Given the description of an element on the screen output the (x, y) to click on. 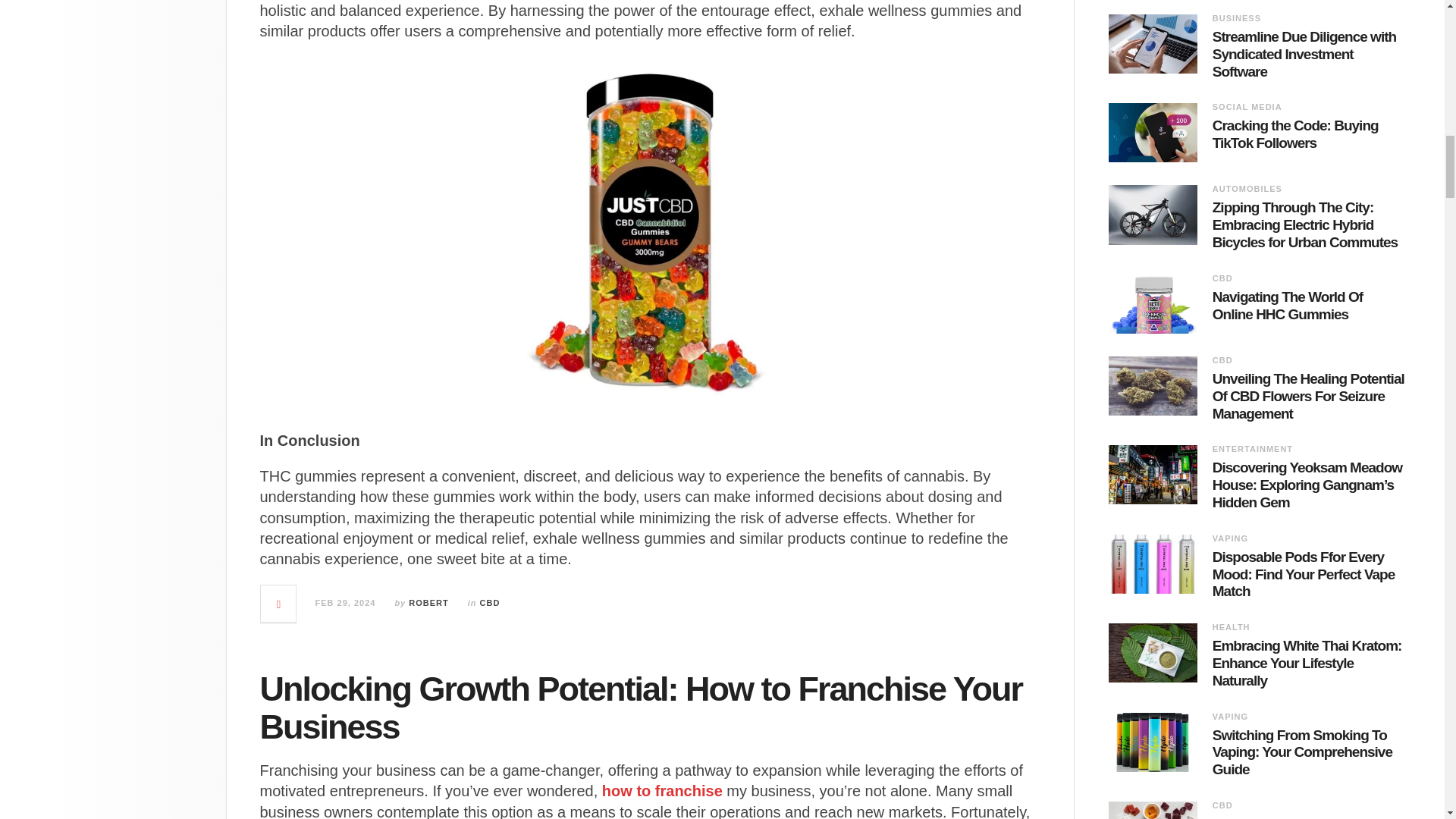
Posts by Robert (428, 602)
Read More... (278, 603)
View all posts in CBD (490, 602)
ROBERT (428, 602)
